Given the description of an element on the screen output the (x, y) to click on. 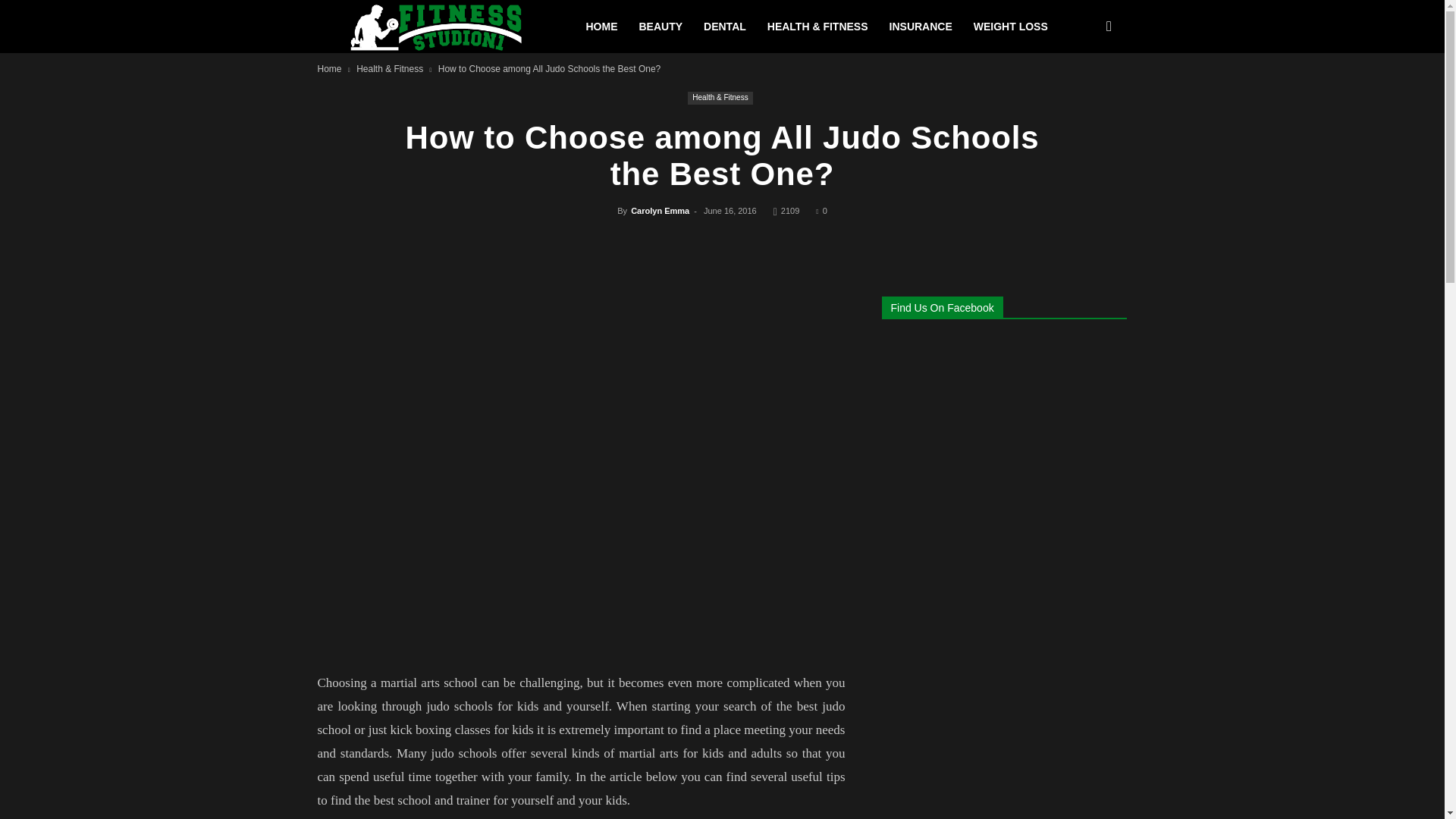
INSURANCE (920, 26)
Carolyn Emma (659, 210)
Search (1083, 96)
WEIGHT LOSS (1010, 26)
HOME (601, 26)
DENTAL (725, 26)
Home (328, 68)
BEAUTY (660, 26)
0 (821, 210)
